Given the description of an element on the screen output the (x, y) to click on. 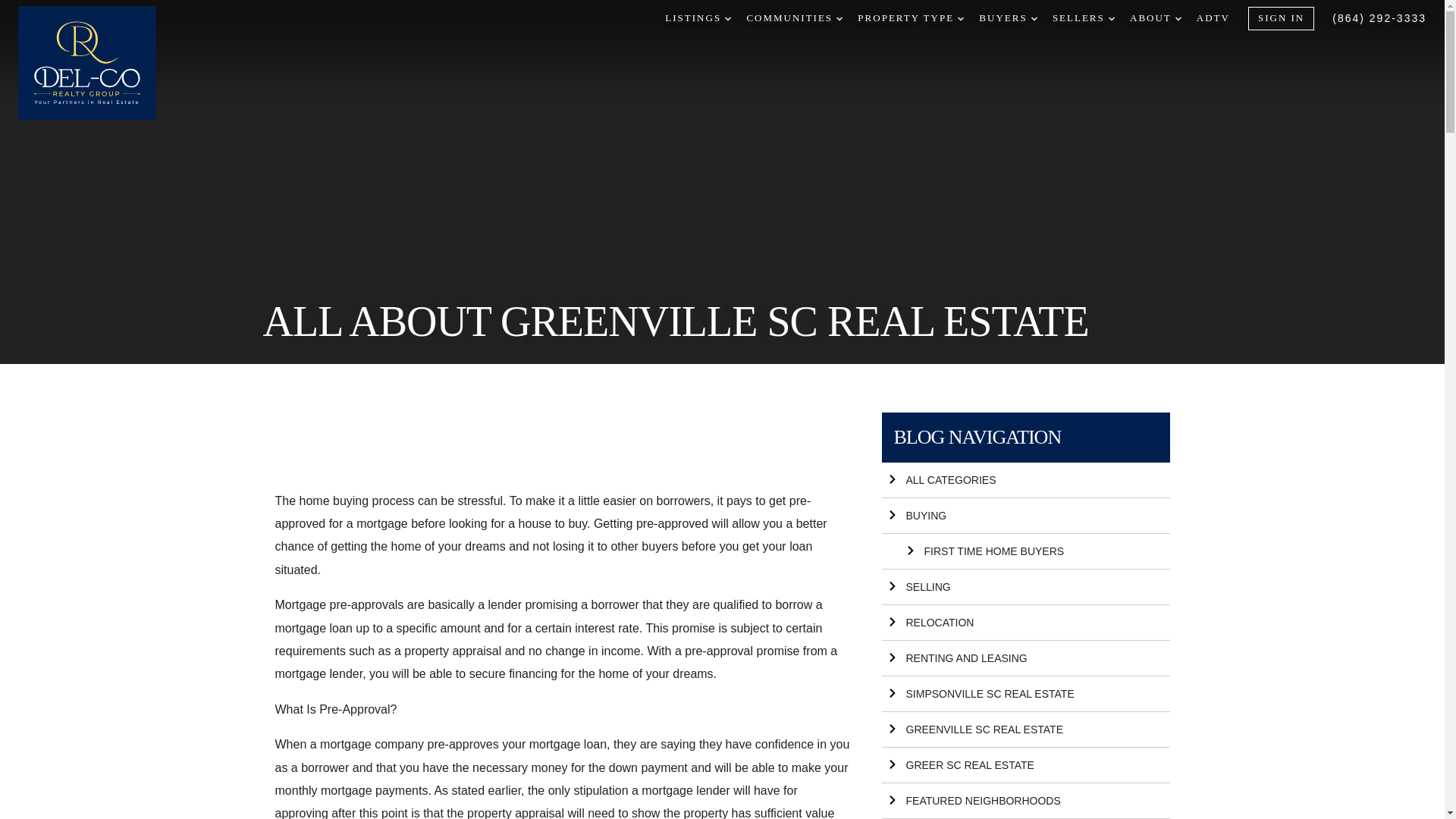
ABOUT DROPDOWN ARROW (1154, 18)
SELLERS DROPDOWN ARROW (1083, 18)
PROPERTY TYPE DROPDOWN ARROW (910, 18)
BUYERS DROPDOWN ARROW (1007, 18)
DROPDOWN ARROW (839, 18)
DROPDOWN ARROW (1177, 18)
DROPDOWN ARROW (727, 18)
LISTINGS DROPDOWN ARROW (697, 18)
COMMUNITIES DROPDOWN ARROW (794, 18)
DROPDOWN ARROW (960, 18)
